Given the description of an element on the screen output the (x, y) to click on. 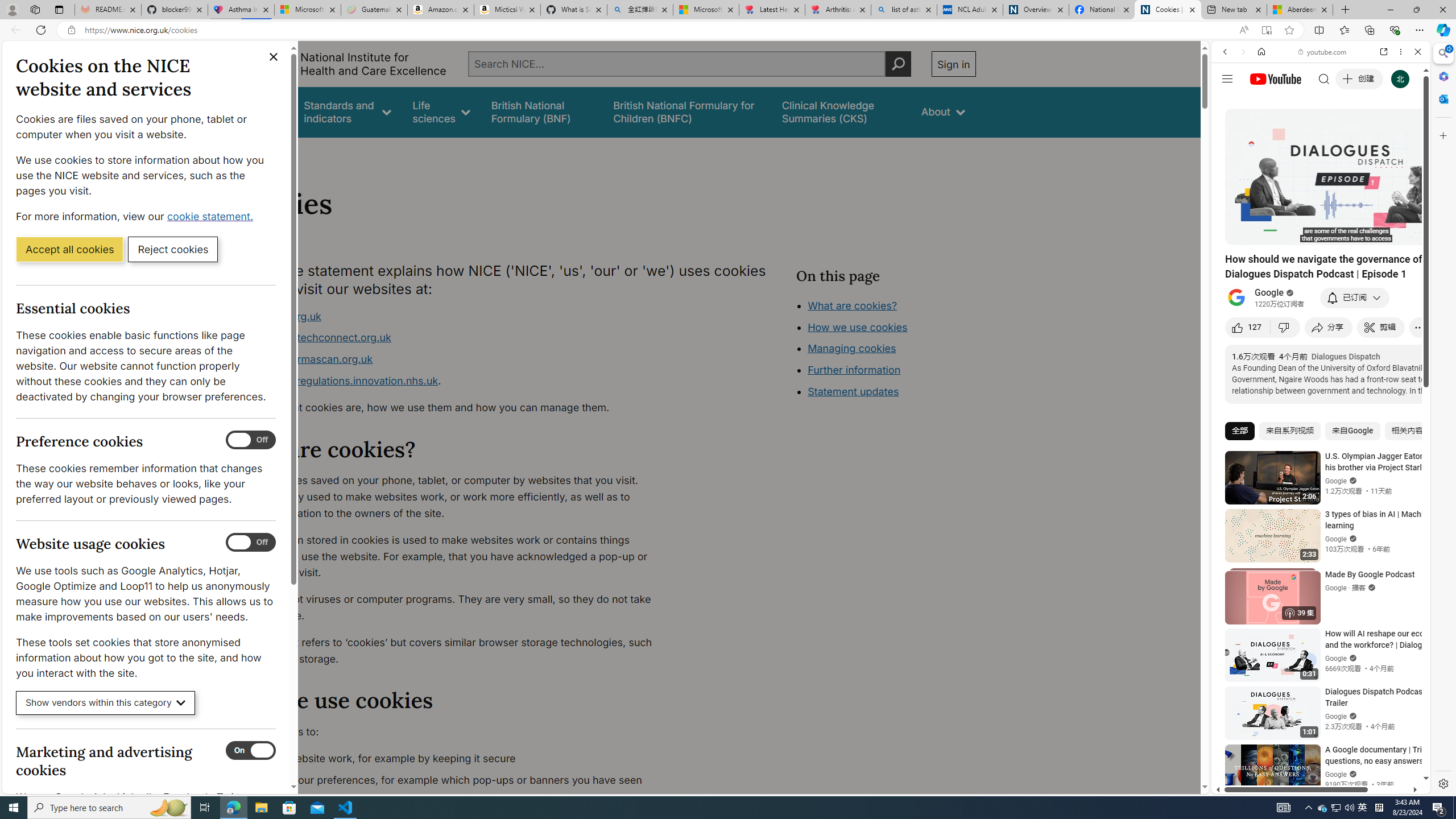
Show vendors within this category (105, 703)
Life sciences (440, 111)
